Given the description of an element on the screen output the (x, y) to click on. 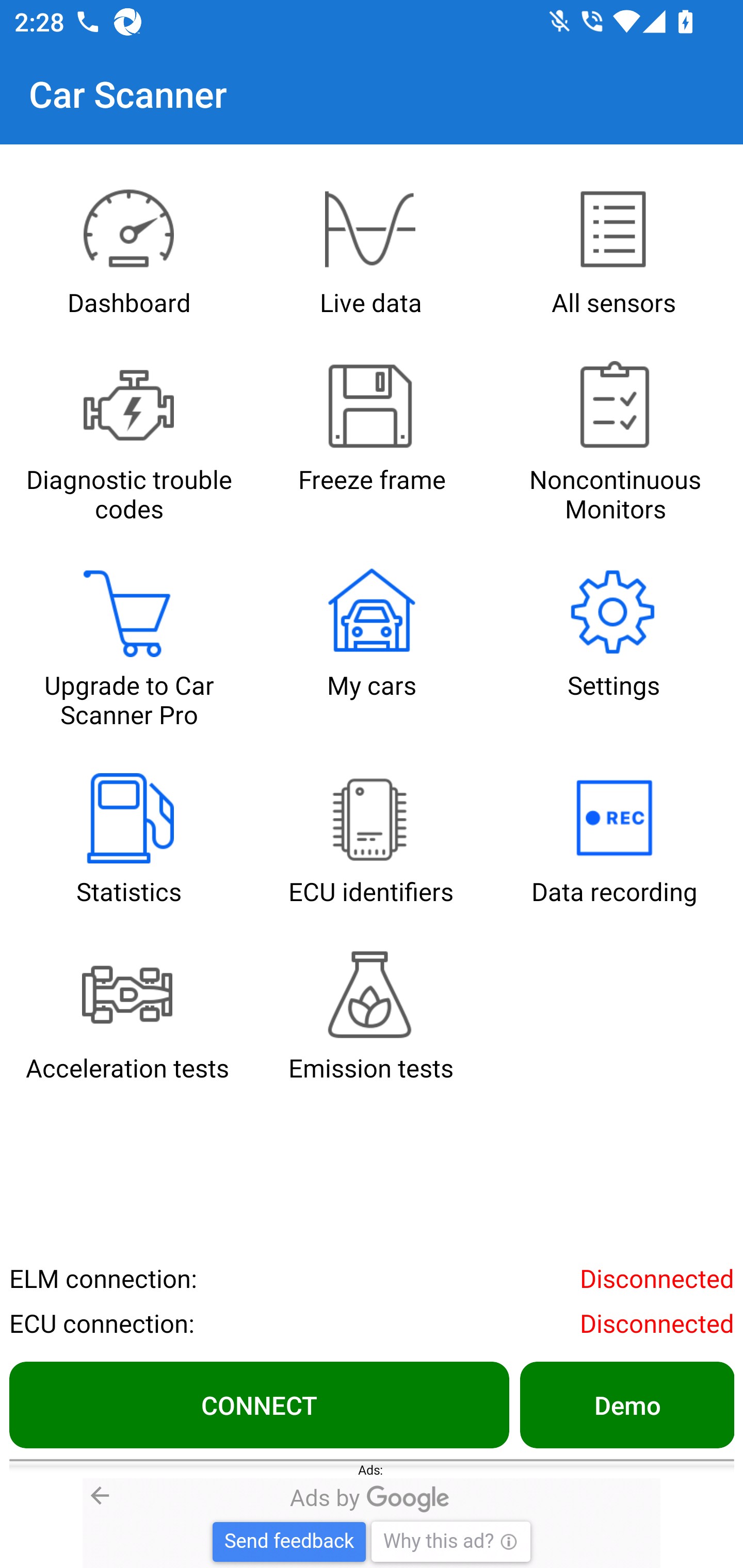
CONNECT (258, 1404)
Demo (627, 1404)
